Given the description of an element on the screen output the (x, y) to click on. 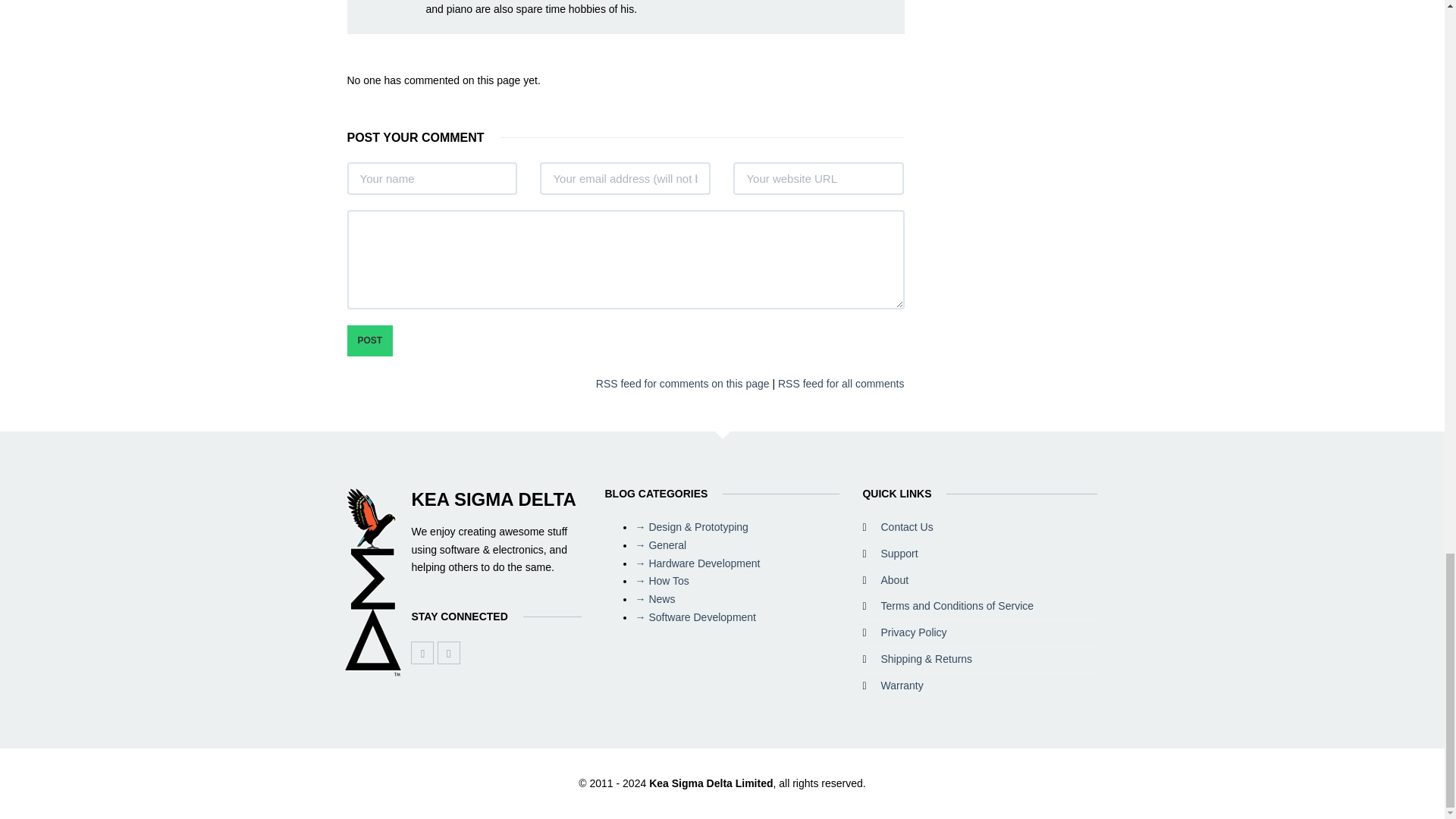
Post (370, 340)
Post (370, 340)
RSS feed for all comments (840, 383)
RSS feed for comments on this page (682, 383)
